Given the description of an element on the screen output the (x, y) to click on. 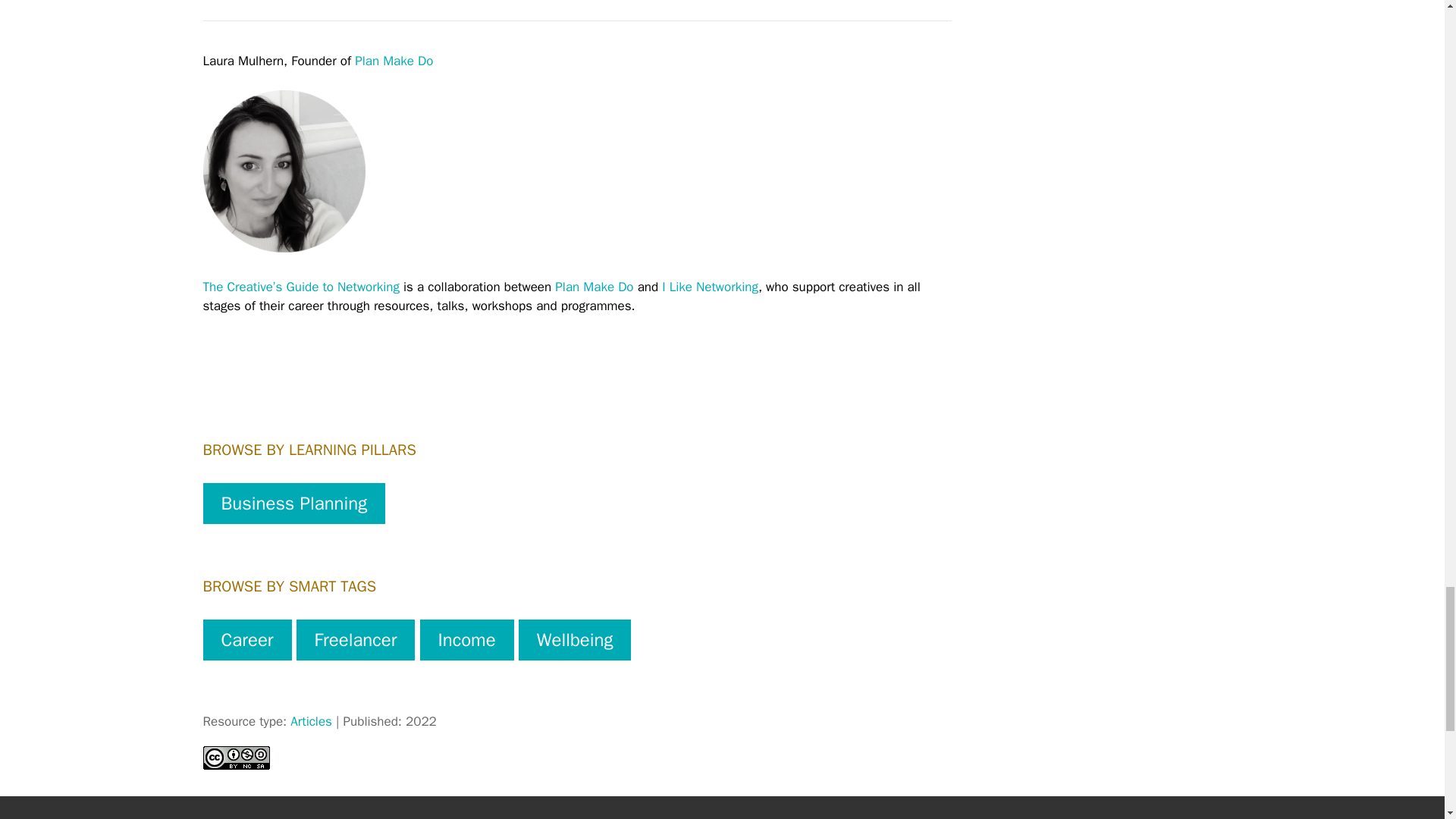
Business Planning (294, 503)
Wellbeing (574, 639)
Plan Make Do (393, 60)
Articles (310, 721)
Income (466, 639)
Career (247, 639)
Plan Make Do (593, 286)
I Like Networking (710, 286)
Freelancer (355, 639)
